Given the description of an element on the screen output the (x, y) to click on. 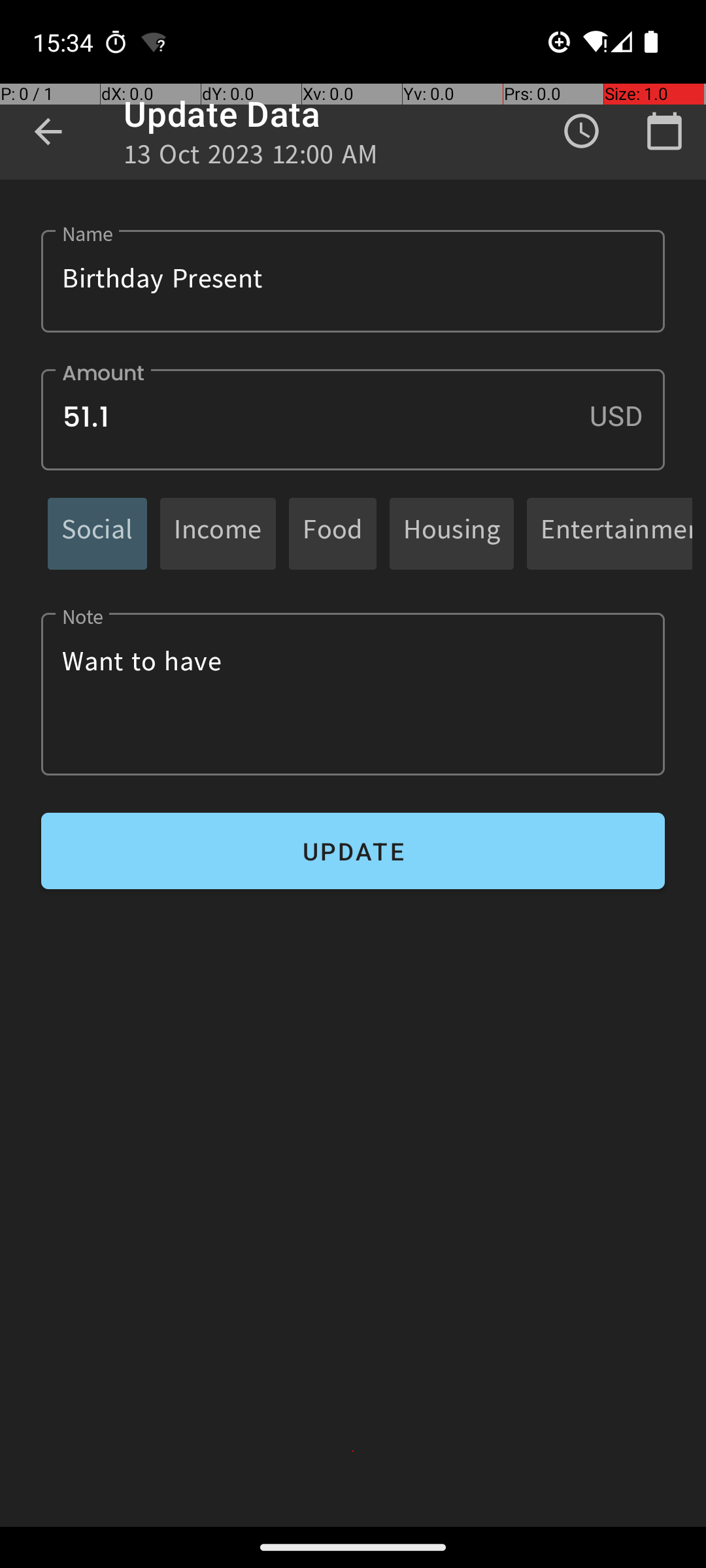
13 Oct 2023 12:00 AM Element type: android.widget.TextView (250, 157)
Birthday Present Element type: android.widget.EditText (352, 280)
51.1 Element type: android.widget.EditText (352, 419)
